Given the description of an element on the screen output the (x, y) to click on. 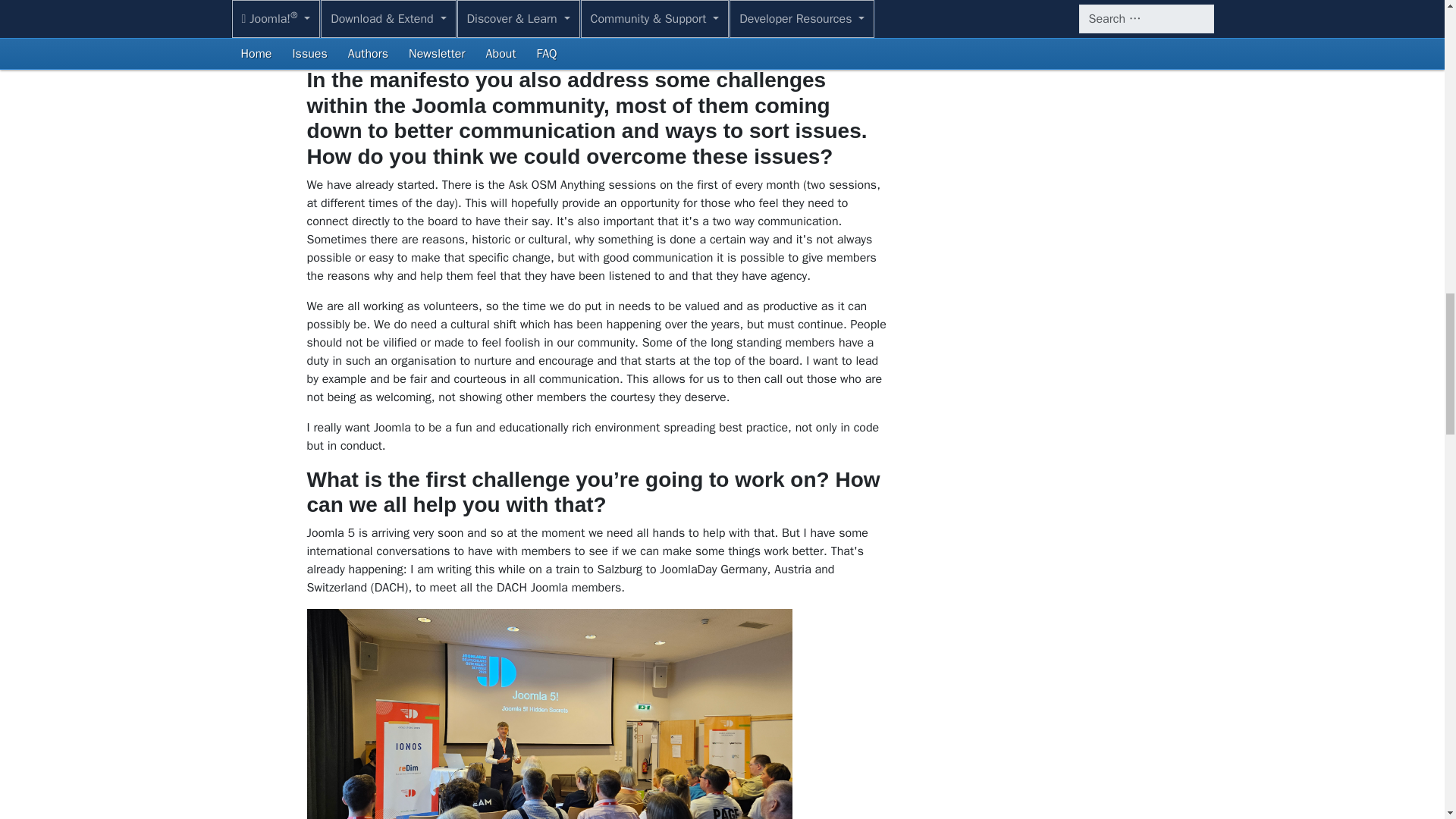
Subscribe (1030, 11)
